Given the description of an element on the screen output the (x, y) to click on. 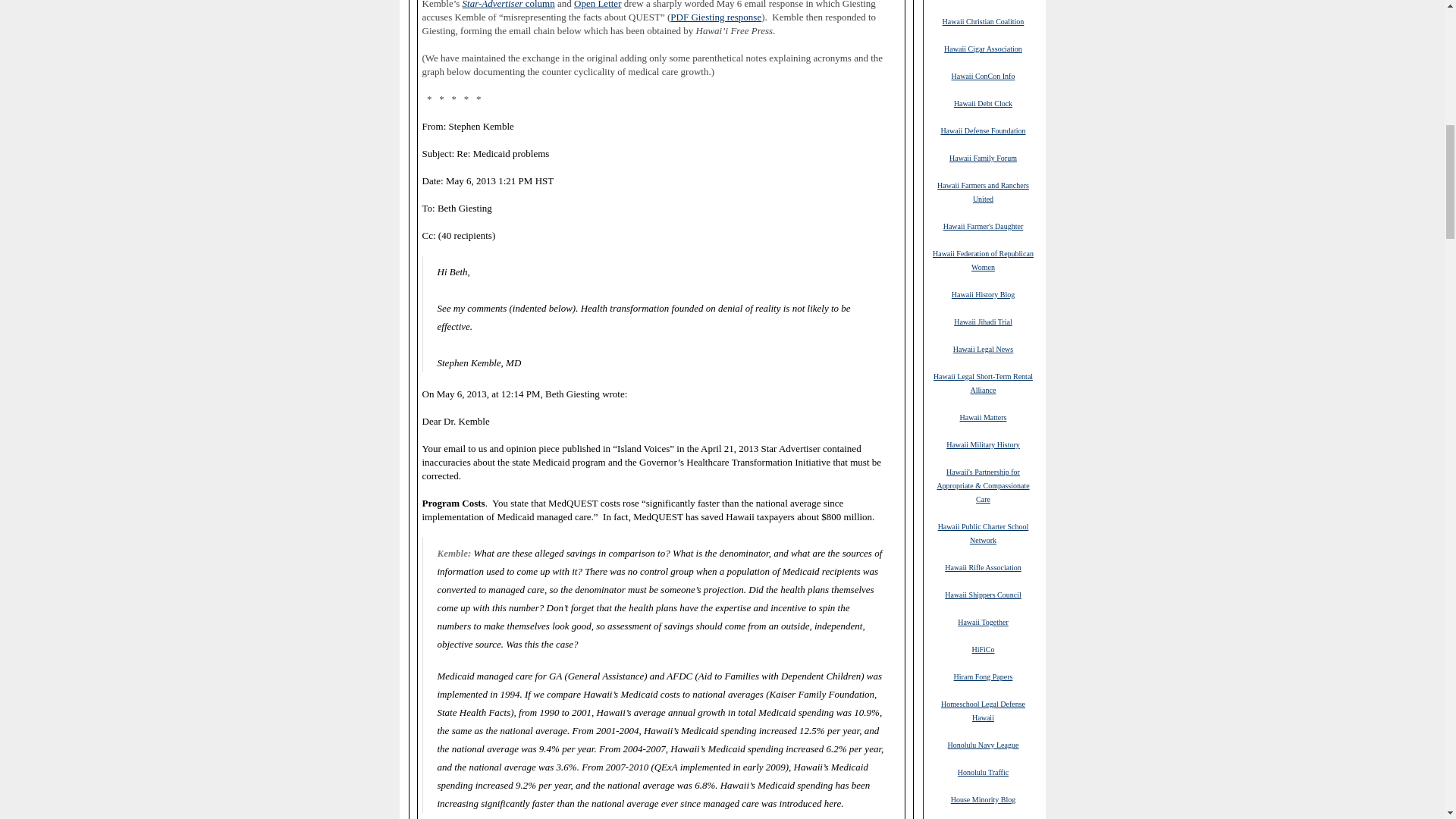
Star-Advertiser column (508, 4)
Open Letter (597, 4)
PDF Giesting response (715, 16)
